Given the description of an element on the screen output the (x, y) to click on. 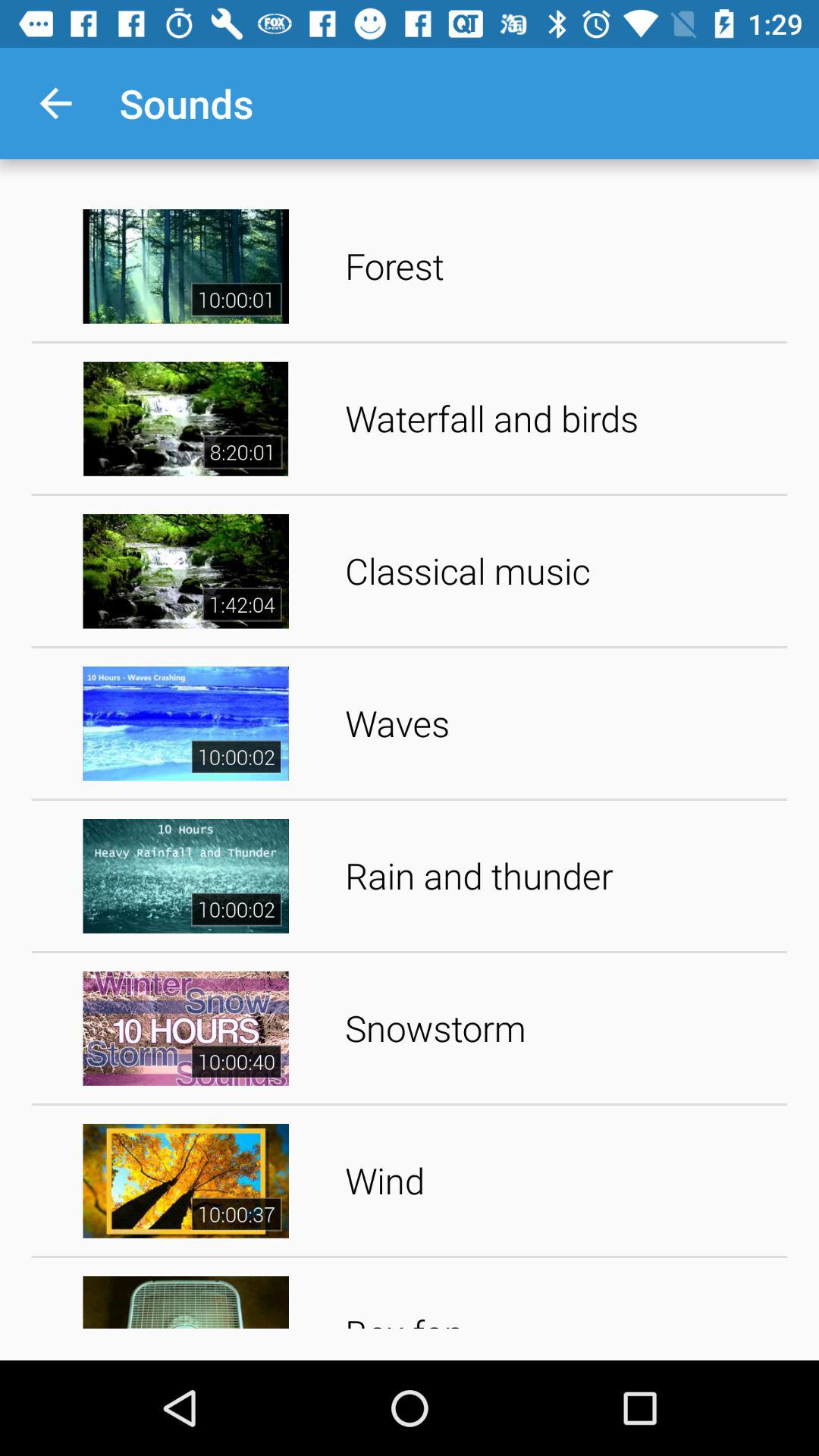
turn on the forest (560, 266)
